Given the description of an element on the screen output the (x, y) to click on. 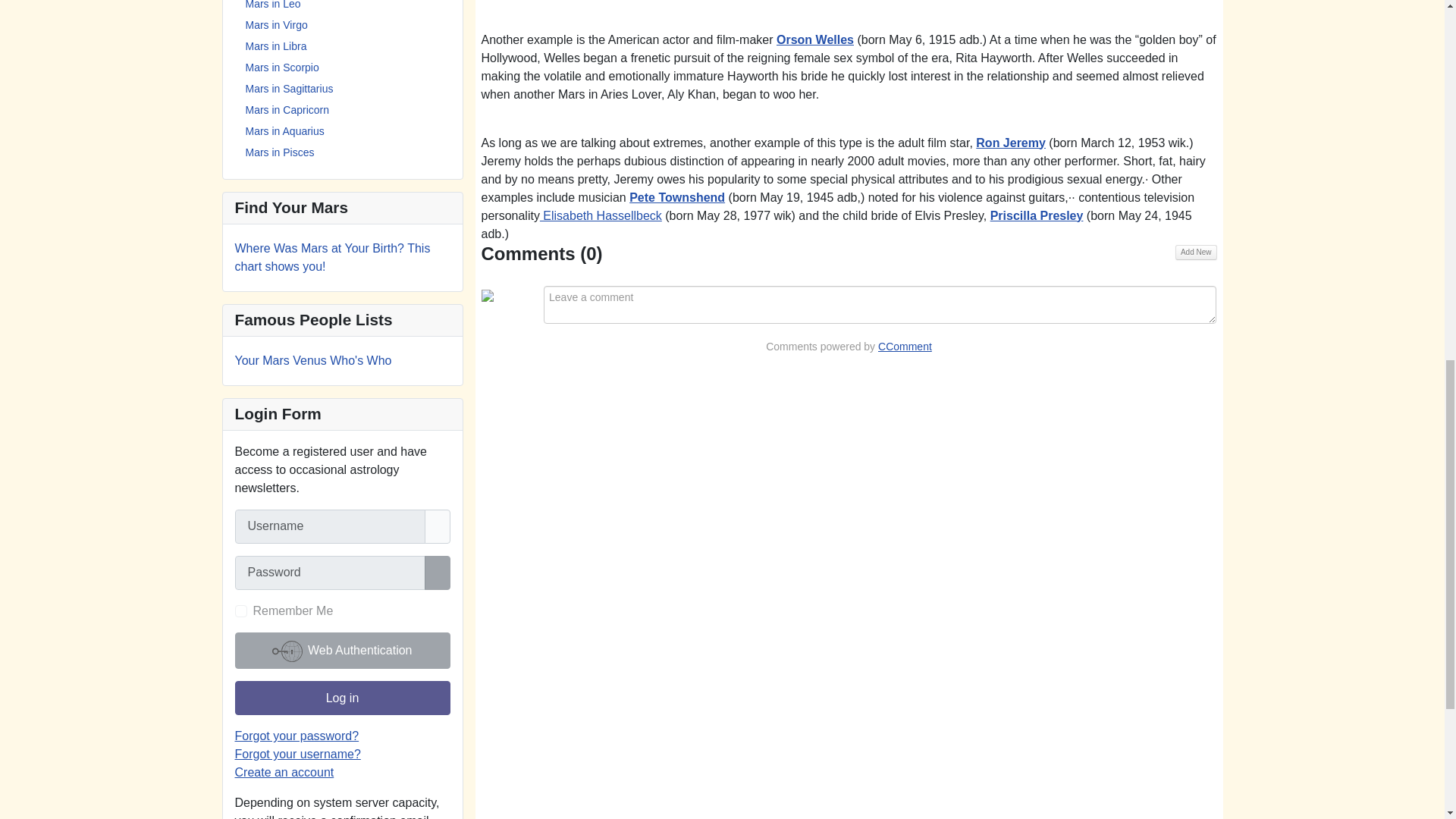
Forgot your password? (296, 735)
Web Authentication (341, 650)
Mars in Scorpio (282, 67)
Mars in Libra (276, 46)
Forgot your username? (297, 753)
Add New (1195, 252)
Mars in Aquarius (285, 131)
Mars in Pisces (280, 152)
Mars in Capricorn (287, 110)
Mars in Leo (273, 4)
